Given the description of an element on the screen output the (x, y) to click on. 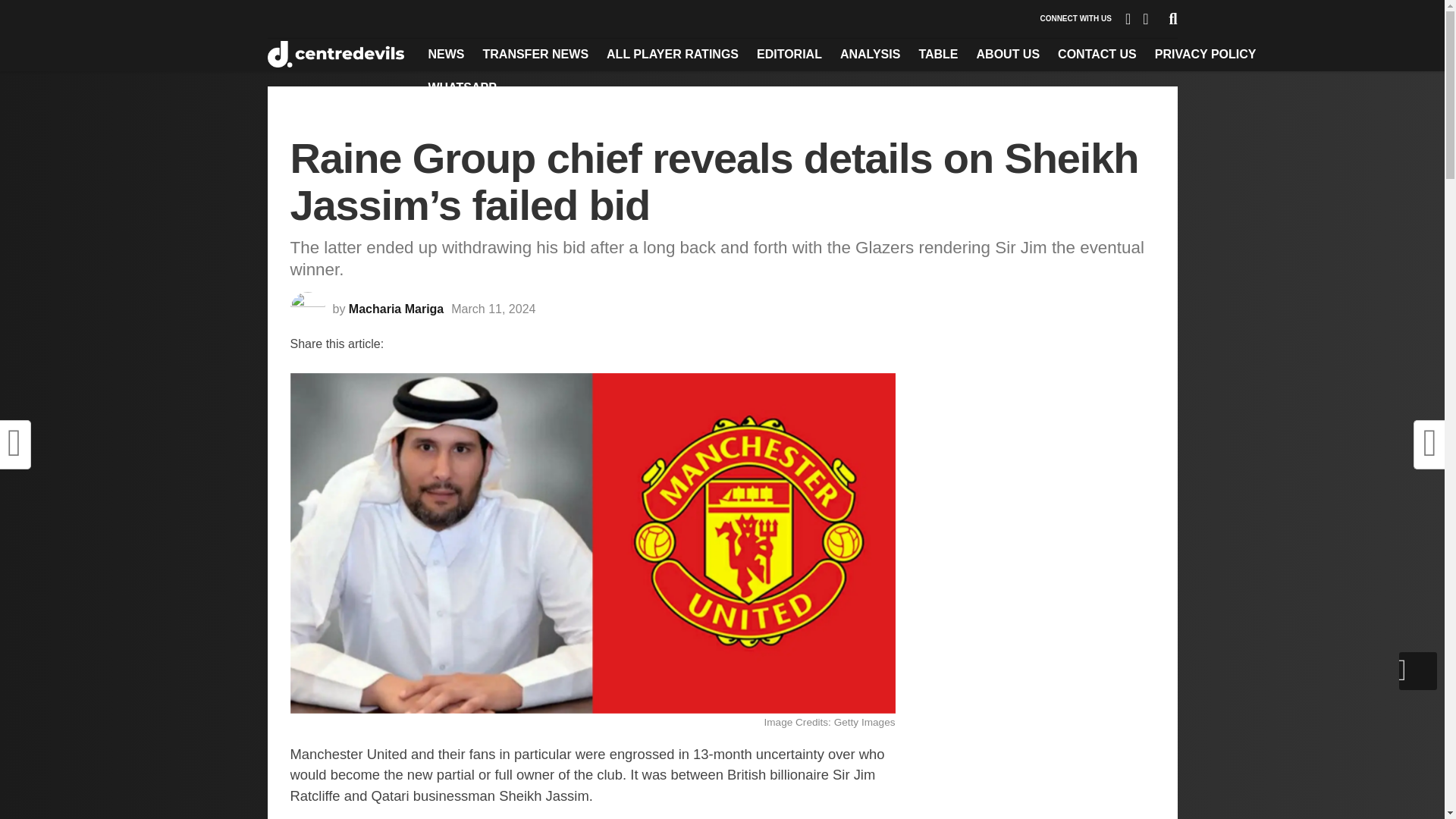
ANALYSIS (869, 54)
TABLE (937, 54)
NEWS (446, 54)
TRANSFER NEWS (534, 54)
Macharia Mariga (396, 308)
ABOUT US (1008, 54)
EDITORIAL (789, 54)
CONTACT US (1096, 54)
WHATSAPP (462, 87)
Posts by Macharia Mariga (396, 308)
